Given the description of an element on the screen output the (x, y) to click on. 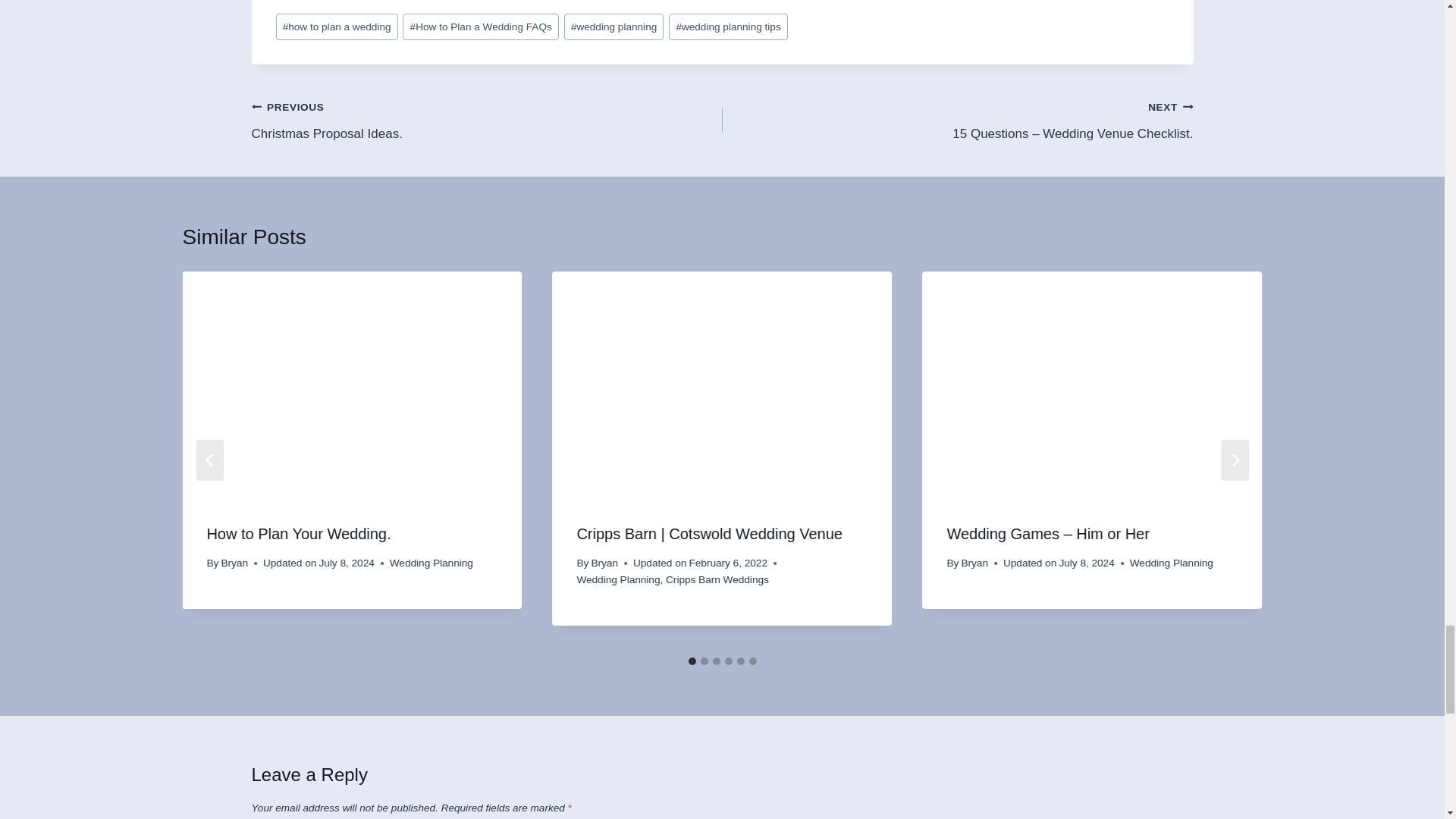
See The Latest Weddings (721, 6)
wedding planning (613, 26)
How to Plan a Wedding FAQs (480, 26)
wedding planning tips (486, 120)
how to plan a wedding (727, 26)
